Given the description of an element on the screen output the (x, y) to click on. 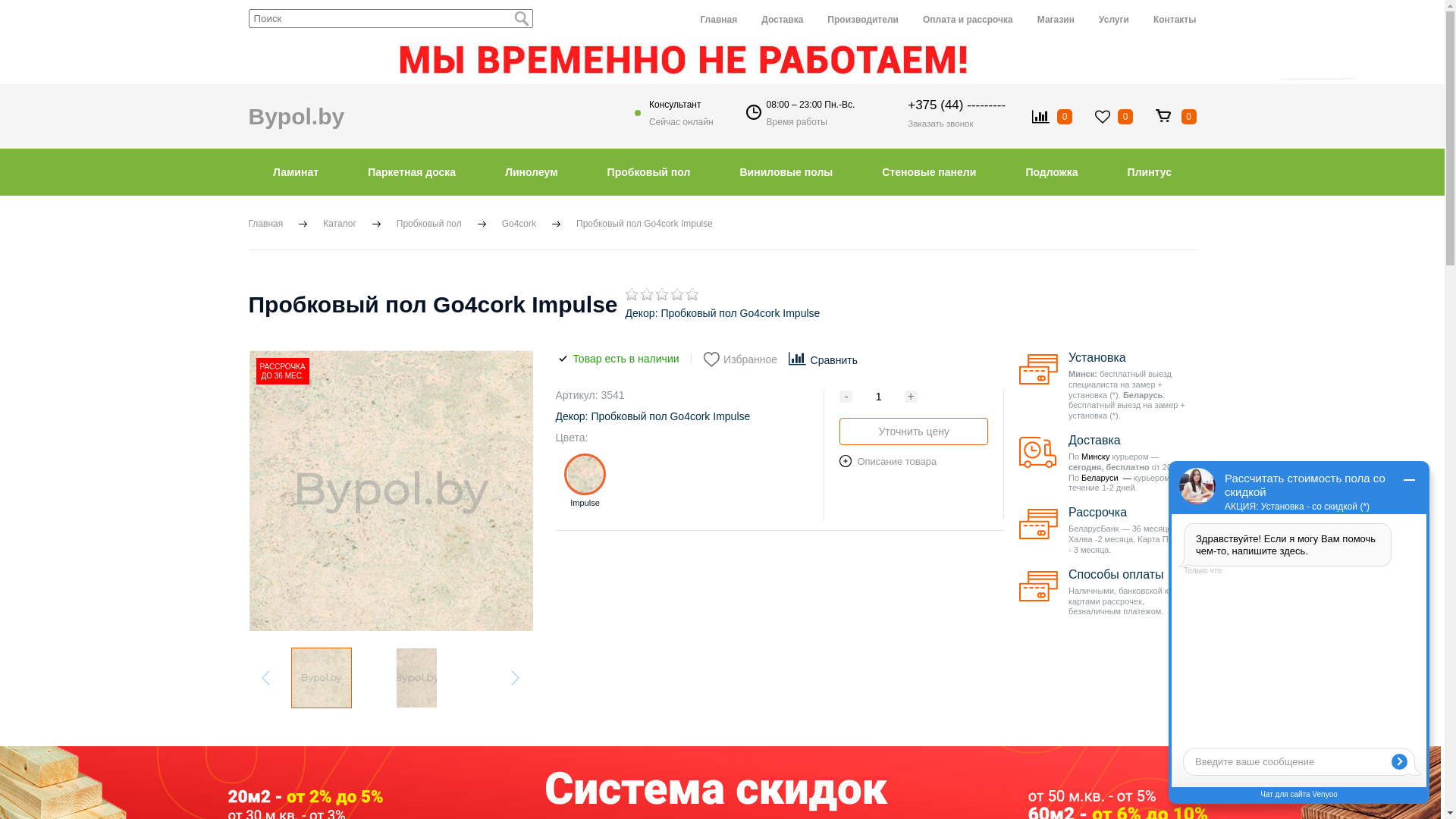
Go4cork Element type: text (519, 223)
Impulse Element type: hover (584, 474)
Impulse Element type: text (584, 480)
0 Element type: hover (661, 294)
Bypol.by Element type: text (296, 115)
0 Element type: text (1052, 116)
+375 (44) --------- Element type: text (956, 104)
0 Element type: text (1113, 115)
